Given the description of an element on the screen output the (x, y) to click on. 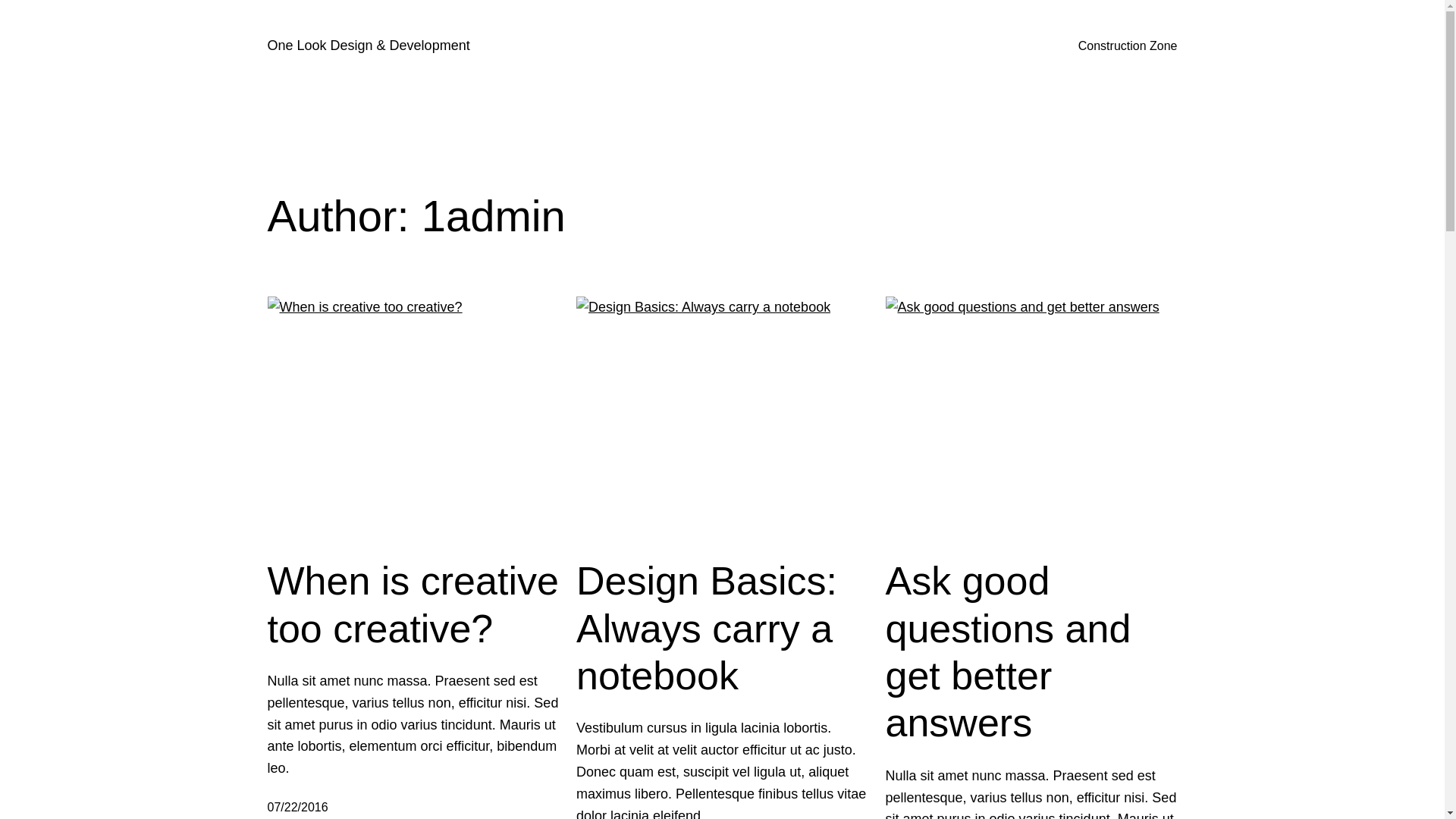
Construction Zone Element type: text (1127, 46)
When is creative too creative? Element type: text (412, 604)
One Look Design & Development Element type: text (367, 45)
07/22/2016 Element type: text (296, 806)
Design Basics: Always carry a notebook Element type: text (722, 628)
Ask good questions and get better answers Element type: text (1031, 651)
